Given the description of an element on the screen output the (x, y) to click on. 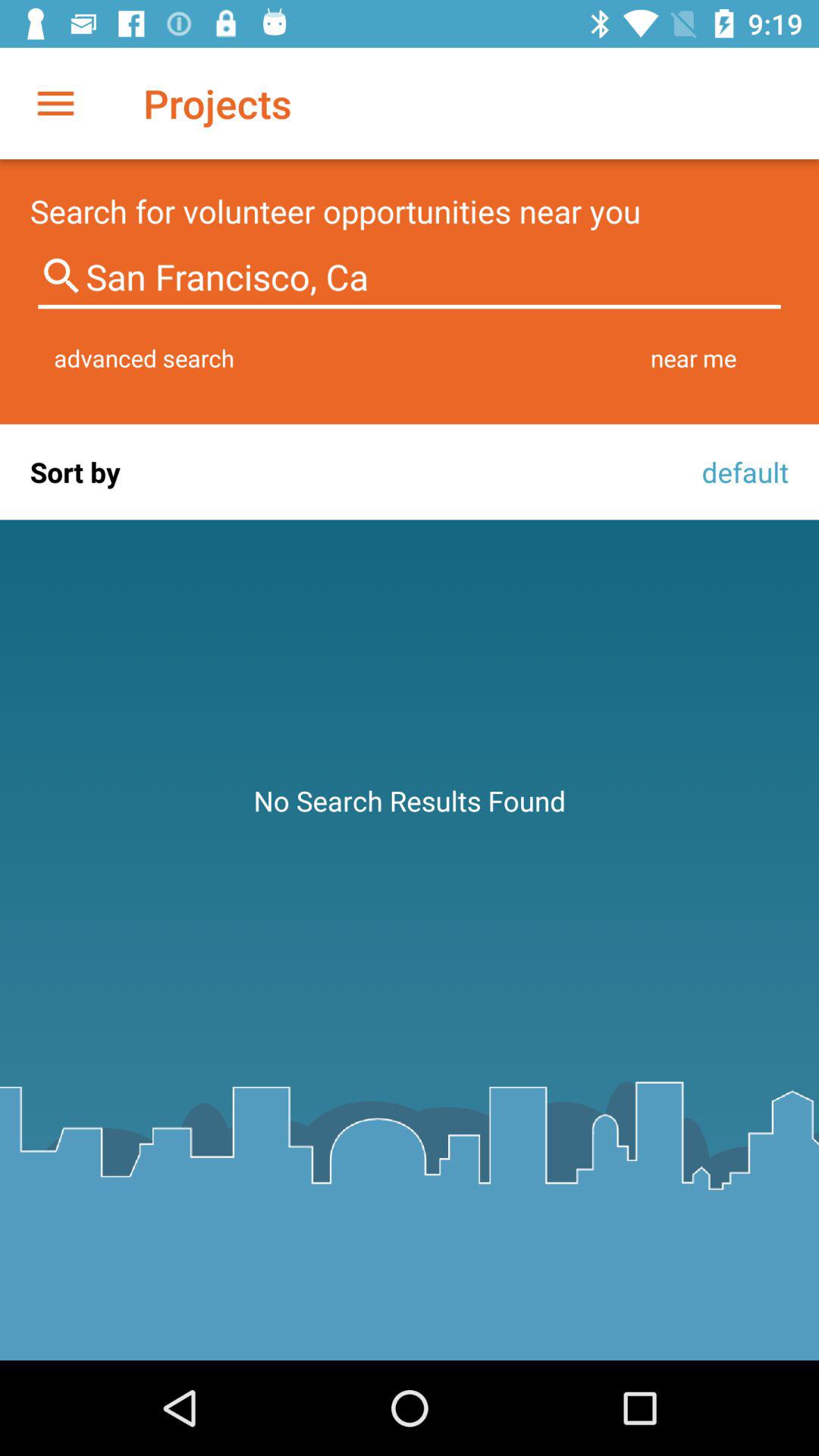
tap the icon below search for volunteer icon (409, 277)
